Given the description of an element on the screen output the (x, y) to click on. 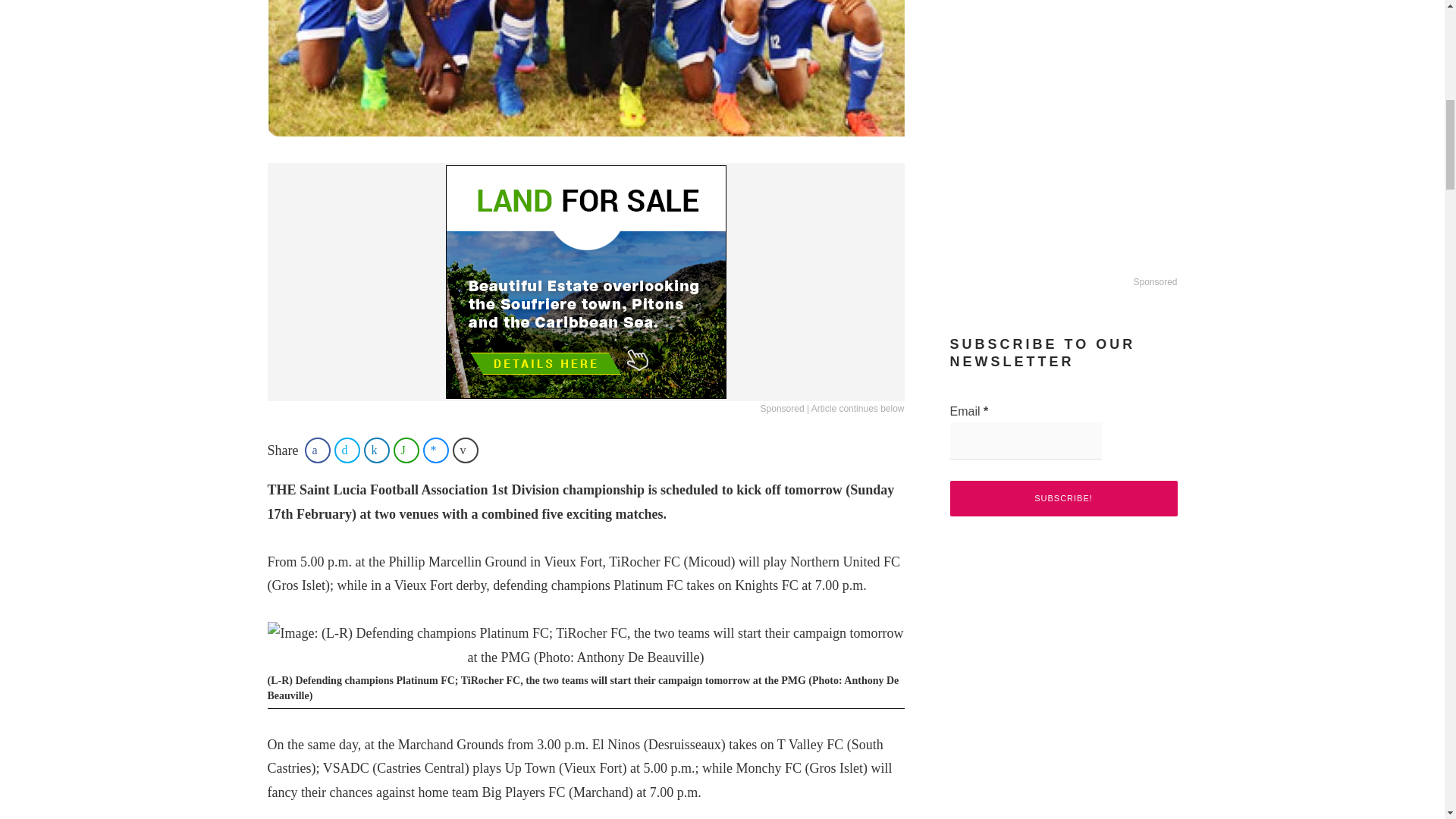
Share on Facebook (317, 450)
Share on Email (465, 450)
Subscribe! (1062, 498)
Share on Twitter (346, 450)
Share on Facebook Messenger (435, 450)
Share on WhatsApp (406, 450)
Share on LinkedIn (377, 450)
